Given the description of an element on the screen output the (x, y) to click on. 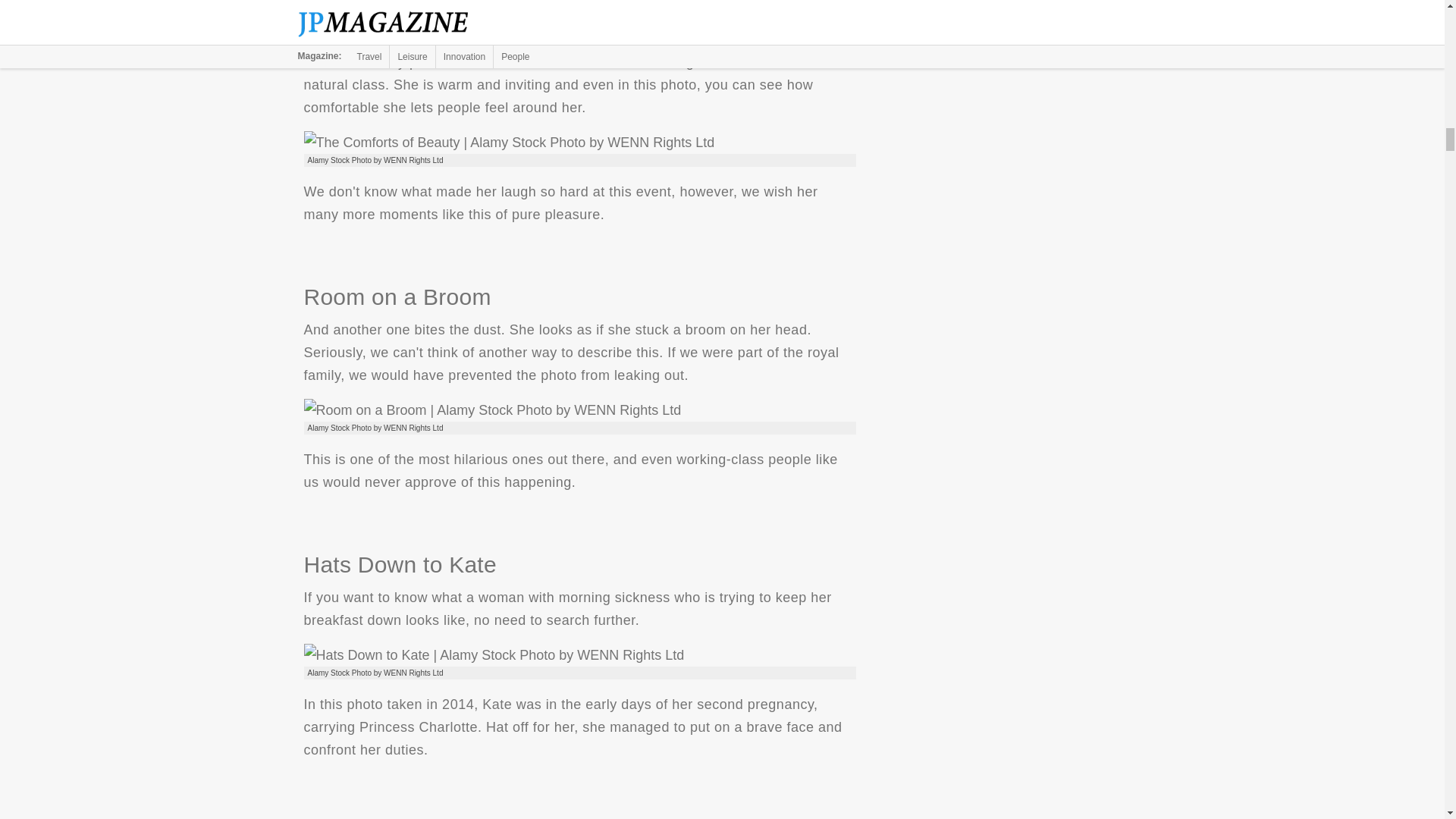
Room on a Broom (491, 409)
The Comforts of Beauty (508, 142)
Hats Down to Kate (493, 654)
